Given the description of an element on the screen output the (x, y) to click on. 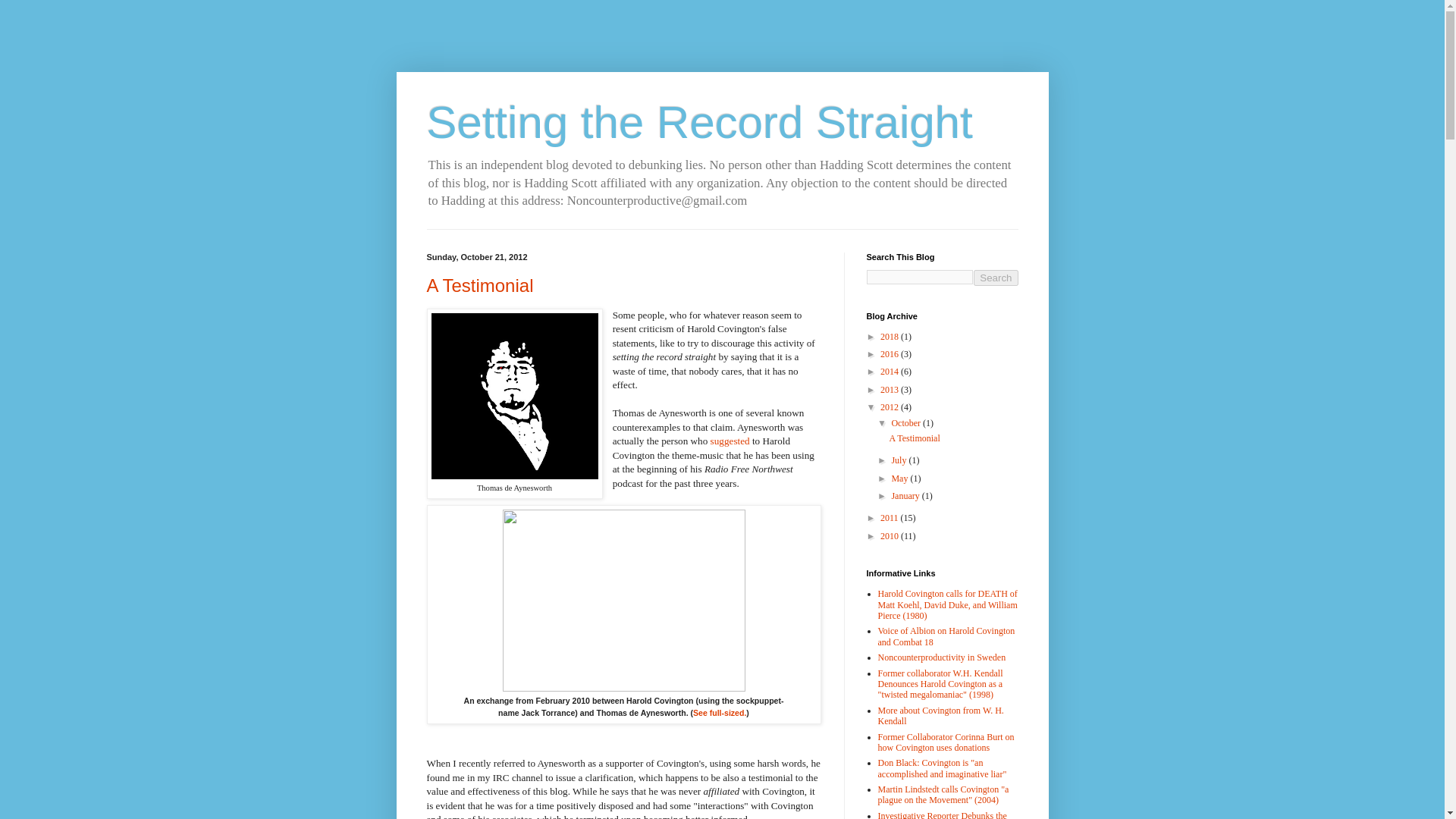
Search (995, 277)
Search (995, 277)
See full-sized. (719, 712)
suggested (729, 440)
A Testimonial (479, 285)
Setting the Record Straight (699, 122)
